Given the description of an element on the screen output the (x, y) to click on. 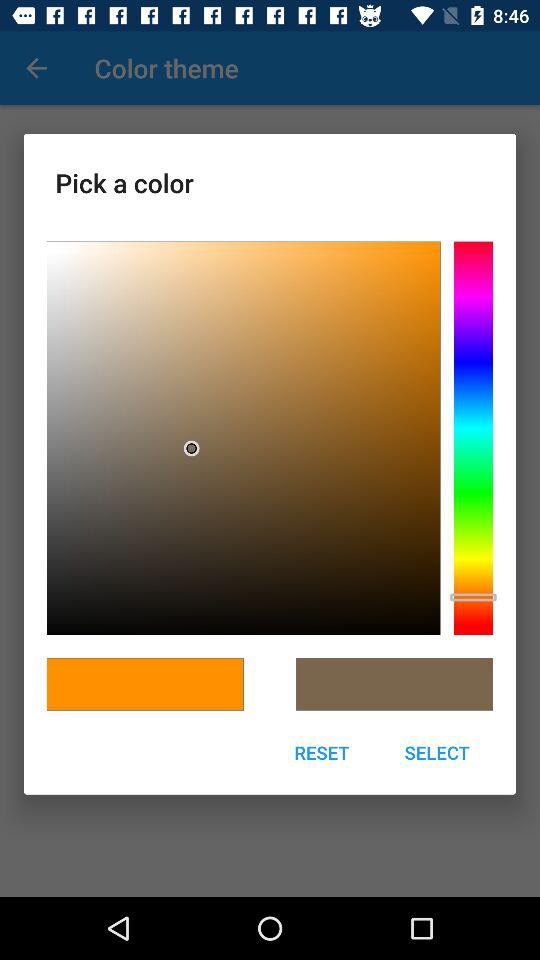
select the icon to the left of the select item (321, 752)
